Given the description of an element on the screen output the (x, y) to click on. 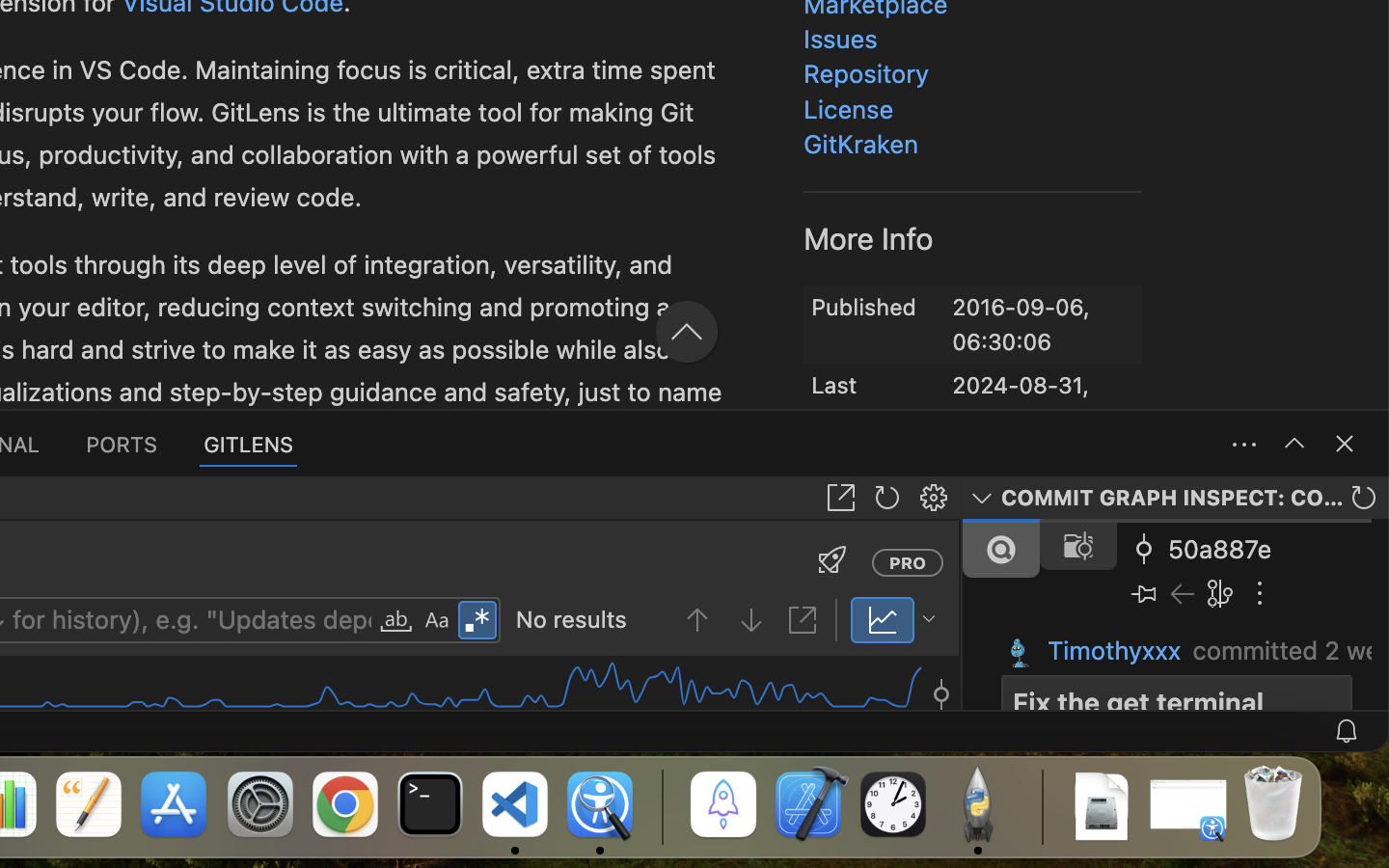
Published Element type: AXStaticText (864, 306)
 Element type: AXStaticText (717, 327)
 Element type: AXStaticText (832, 558)
Quick Access Element type: AXStaticText (814, 63)
 Element type: AXStaticText (601, 223)
